Given the description of an element on the screen output the (x, y) to click on. 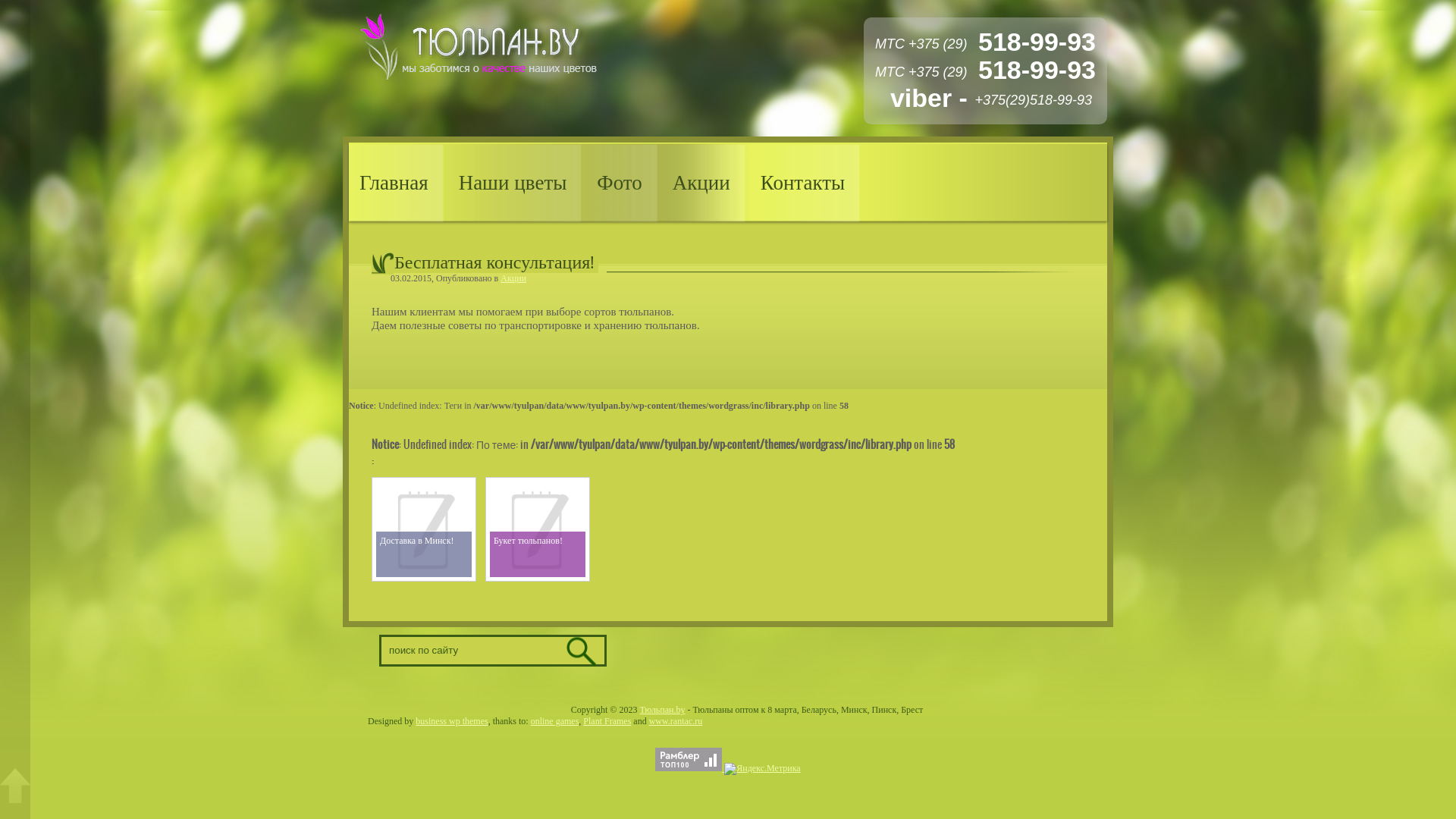
www.rantac.ru Element type: text (675, 720)
online games Element type: text (554, 720)
Scroll window up Element type: hover (15, 785)
business wp themes Element type: text (451, 720)
Plant Frames Element type: text (606, 720)
Rambler's Top100 Element type: hover (688, 759)
